Given the description of an element on the screen output the (x, y) to click on. 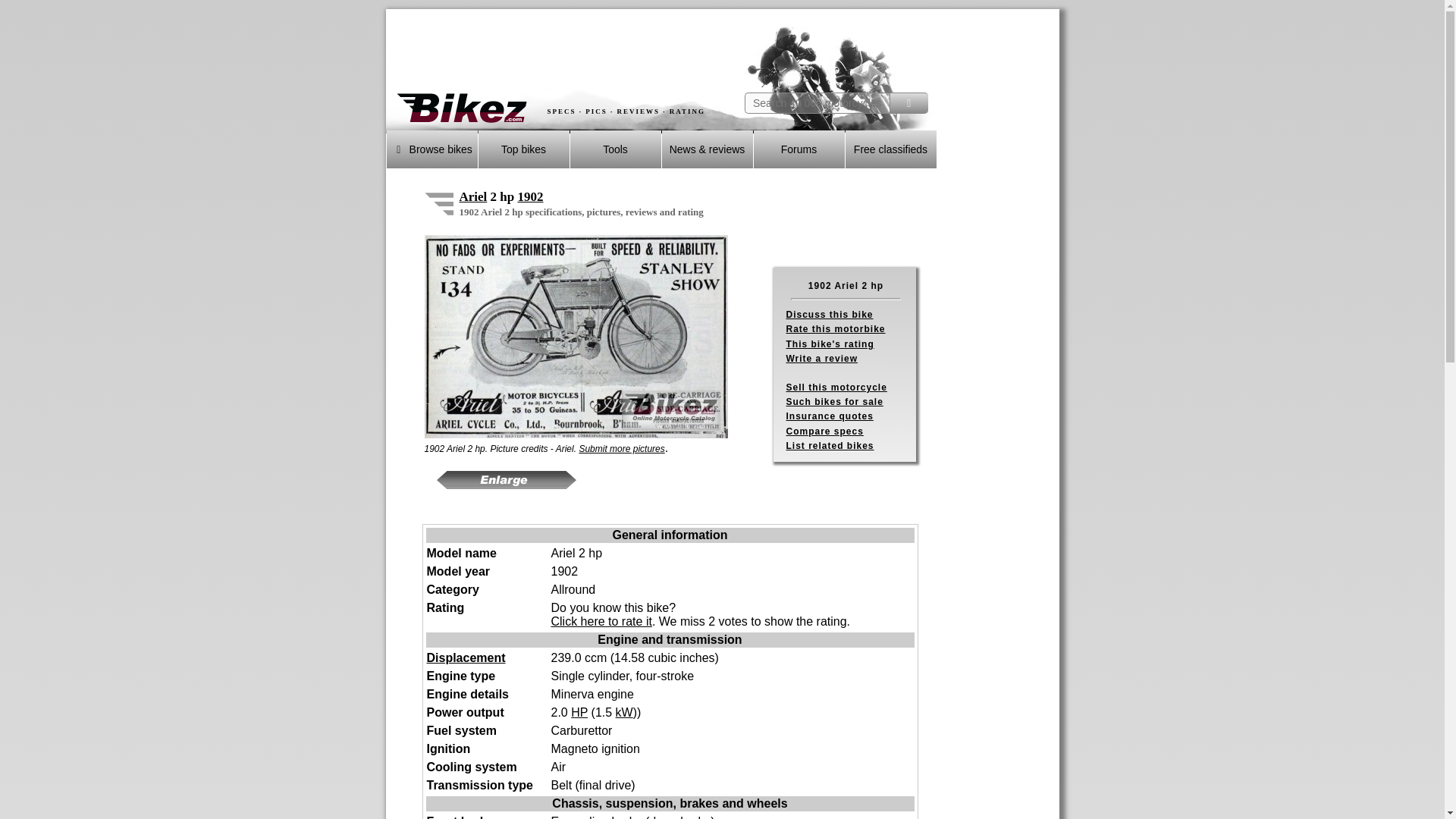
Browse bikes (432, 149)
Ariel (473, 196)
1902 Ariel 2 hp (576, 336)
1902 Ariel 2 hp (438, 202)
Free classifieds (890, 149)
Top bikes (523, 149)
1902 (529, 196)
Tools (615, 149)
Forums (799, 149)
Find motorcycle (908, 102)
Large 1902 Ariel 2 hp picture (506, 479)
